Given the description of an element on the screen output the (x, y) to click on. 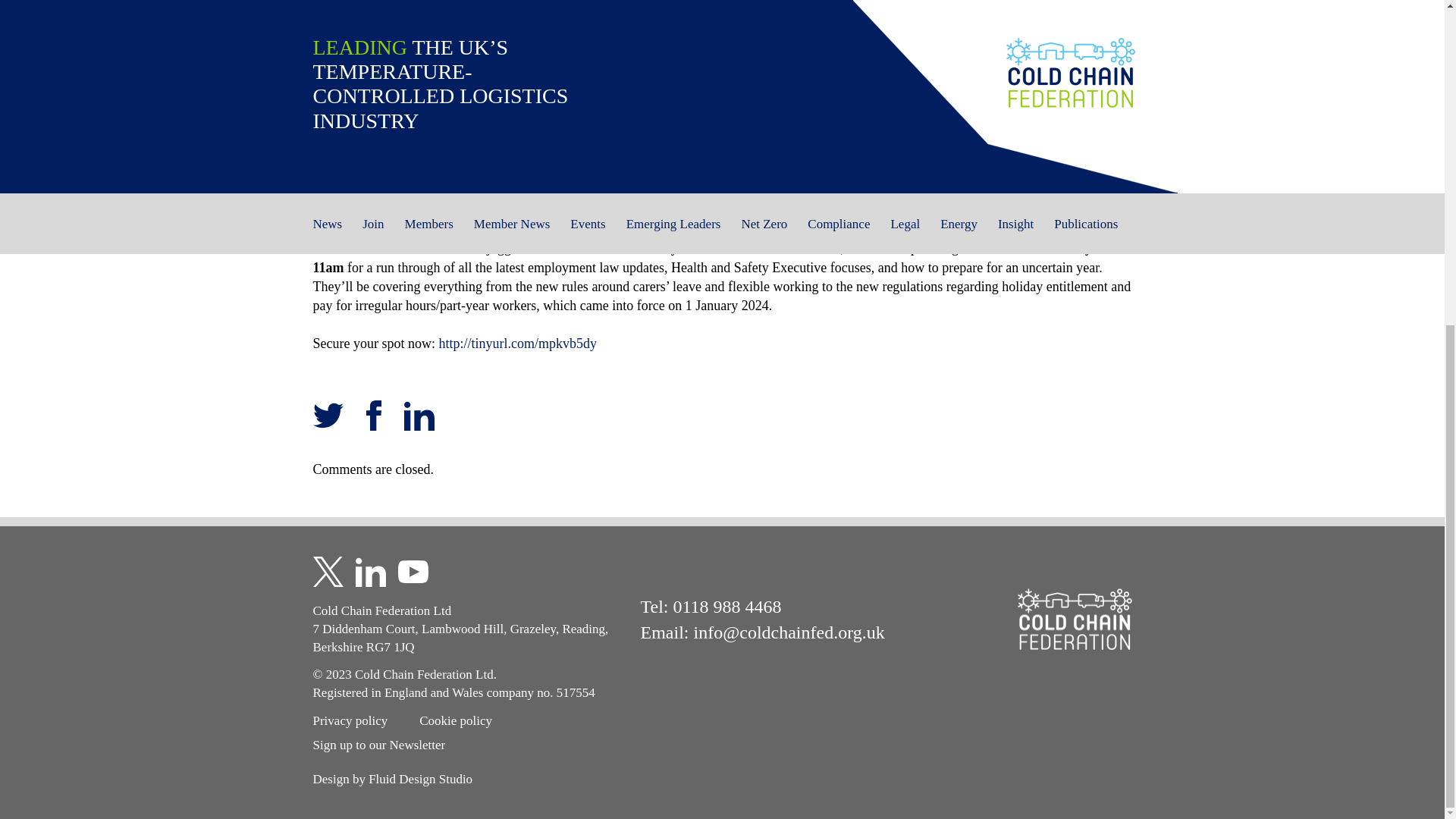
Linkedin (418, 415)
Facebook (373, 416)
Facebook (373, 415)
Tweet this (327, 416)
Share on LinkedIn (418, 416)
0118 988 4468 (726, 606)
Twitter (327, 416)
Design by Fluid Design Studio (392, 779)
Sign up to our Newsletter (379, 744)
Twitter (327, 415)
Linkedin (418, 416)
LinkedIn (370, 571)
YouTube (412, 571)
Privacy policy (350, 720)
Share on Facebook (373, 416)
